Given the description of an element on the screen output the (x, y) to click on. 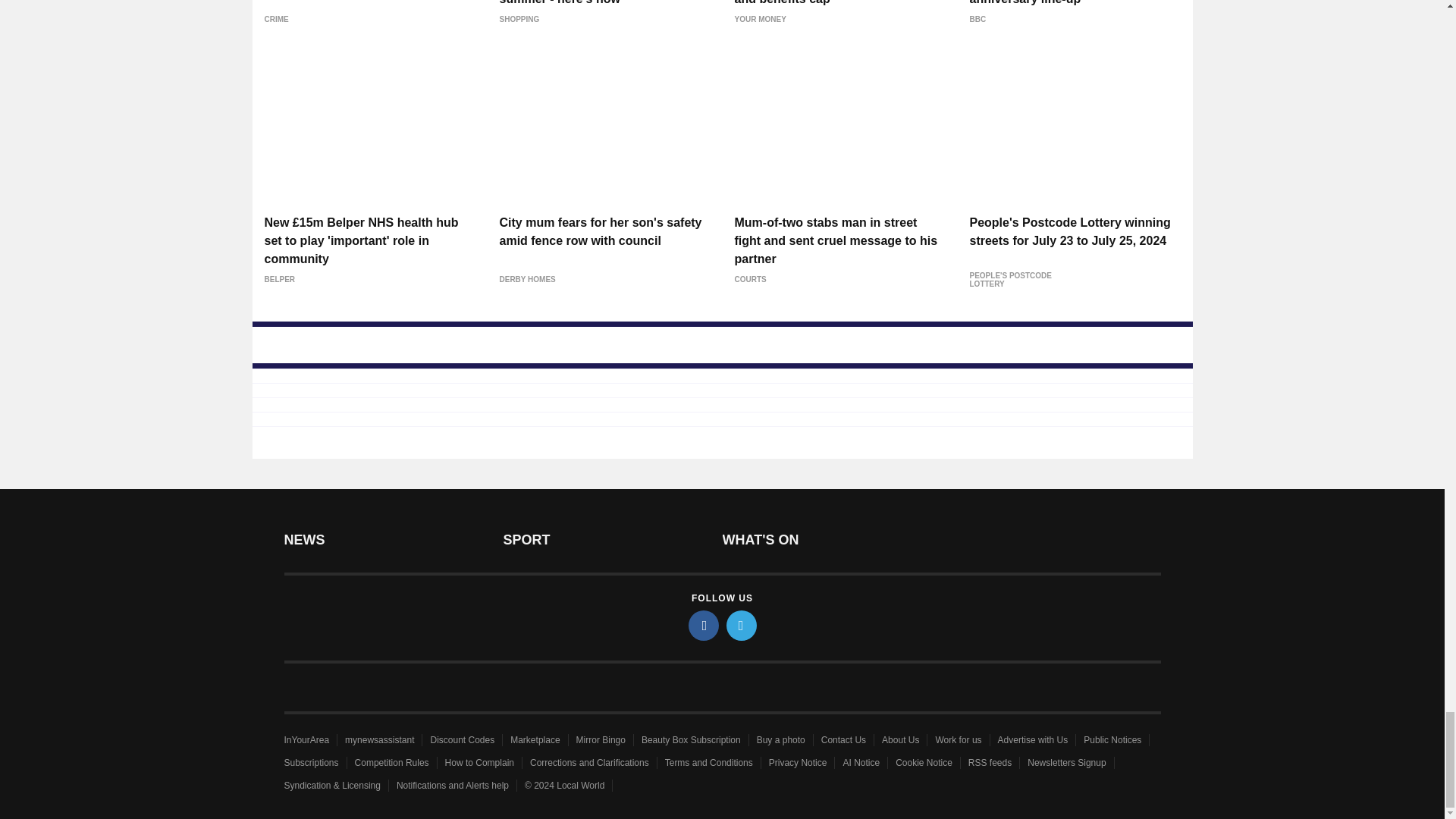
facebook (703, 625)
twitter (741, 625)
